Given the description of an element on the screen output the (x, y) to click on. 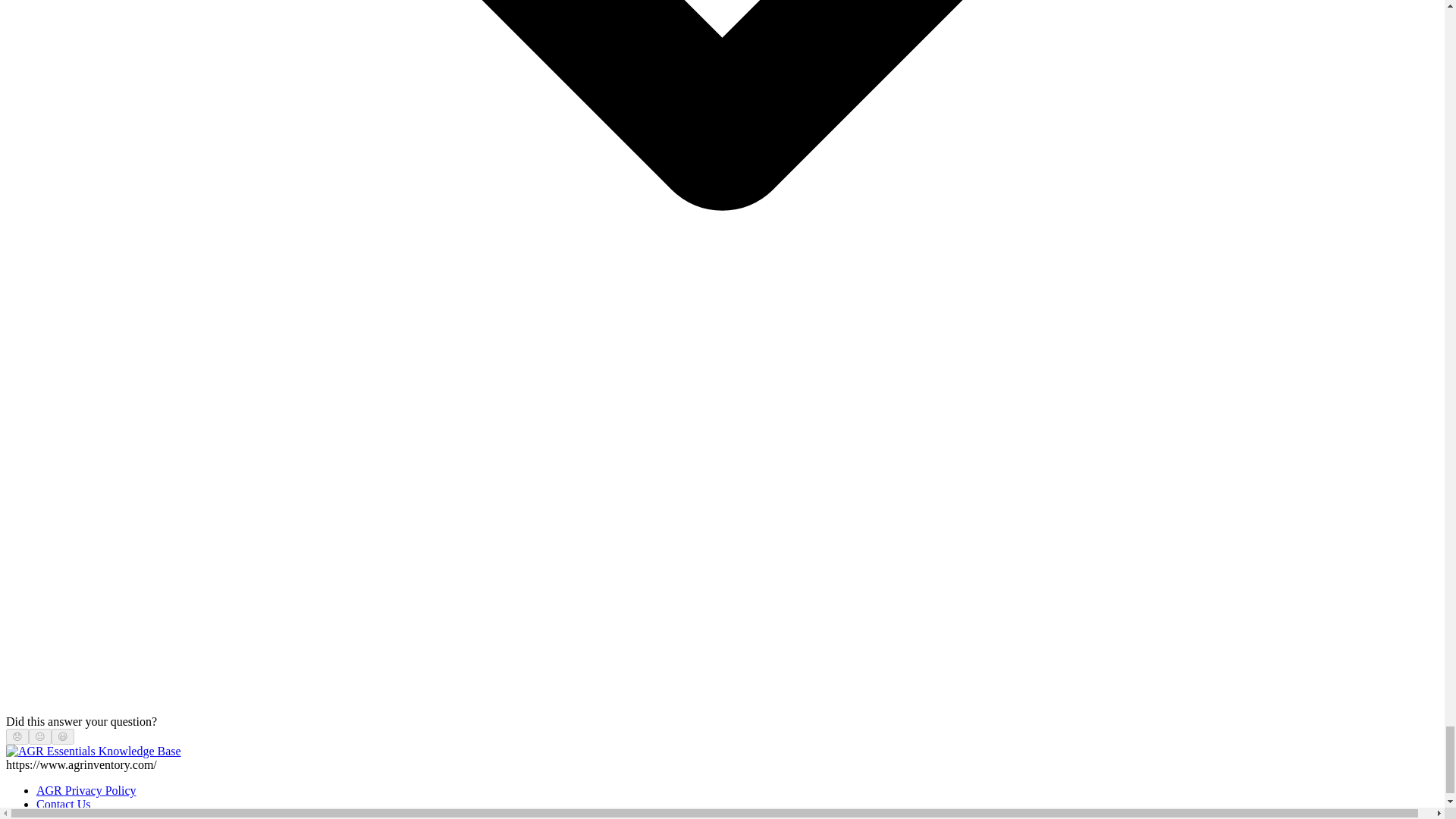
Neutral (39, 736)
Contact Us (63, 803)
AGR Privacy Policy (86, 789)
Disappointed (17, 736)
Smiley (63, 736)
